Given the description of an element on the screen output the (x, y) to click on. 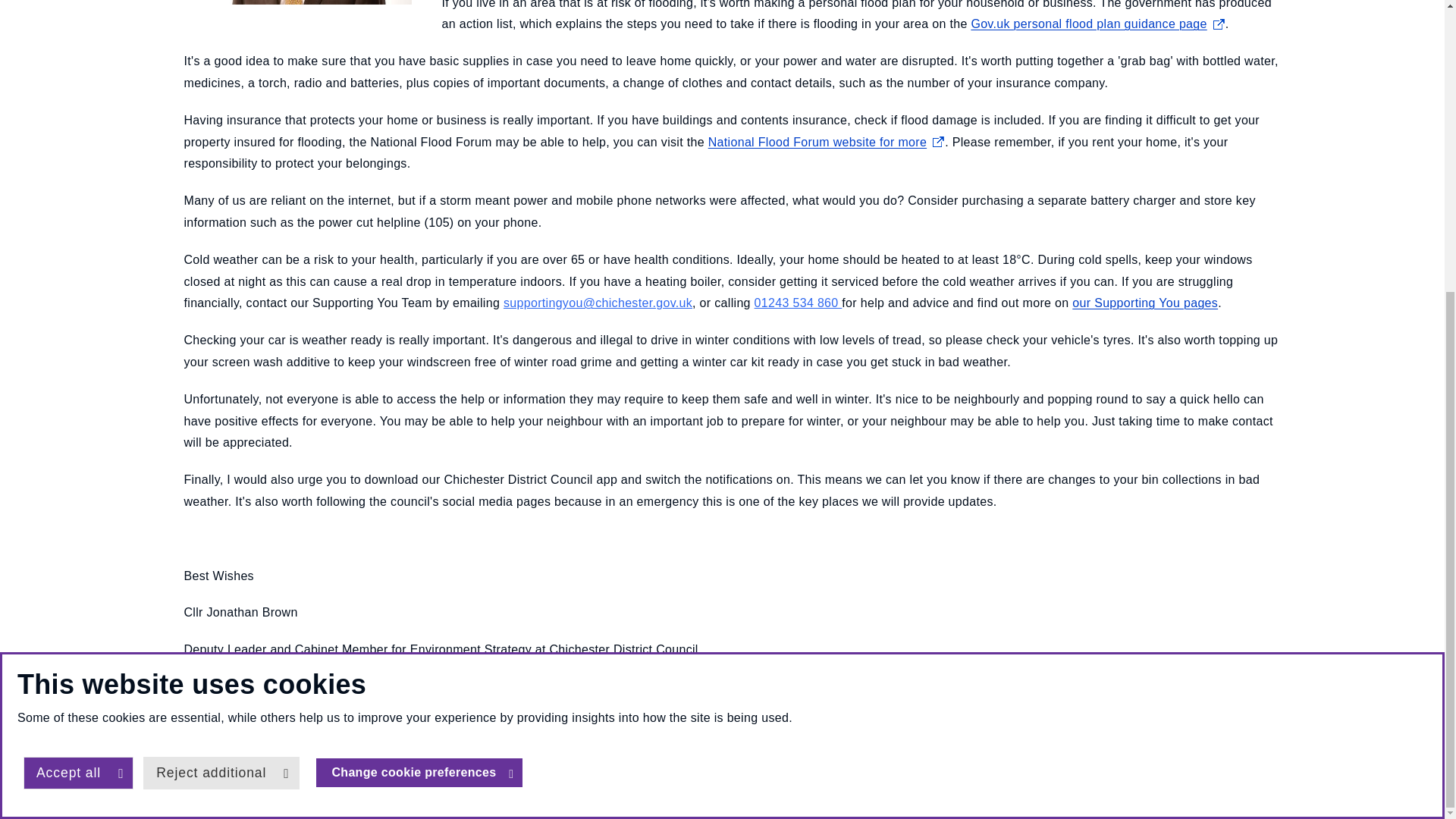
our Supporting You pages (1144, 302)
Contact us (484, 768)
Sign up to our newsletter (595, 768)
Watch us on YouTube (1193, 768)
Terms and conditions (288, 768)
Accept all (78, 327)
Follow us on Instagram (1227, 768)
Cookies (195, 768)
01243 534 860 (798, 302)
Follow us on Twitter (1158, 768)
Reject additional (220, 327)
Accessibility statement (741, 768)
Change cookie preferences (418, 326)
Data protection (401, 768)
